Given the description of an element on the screen output the (x, y) to click on. 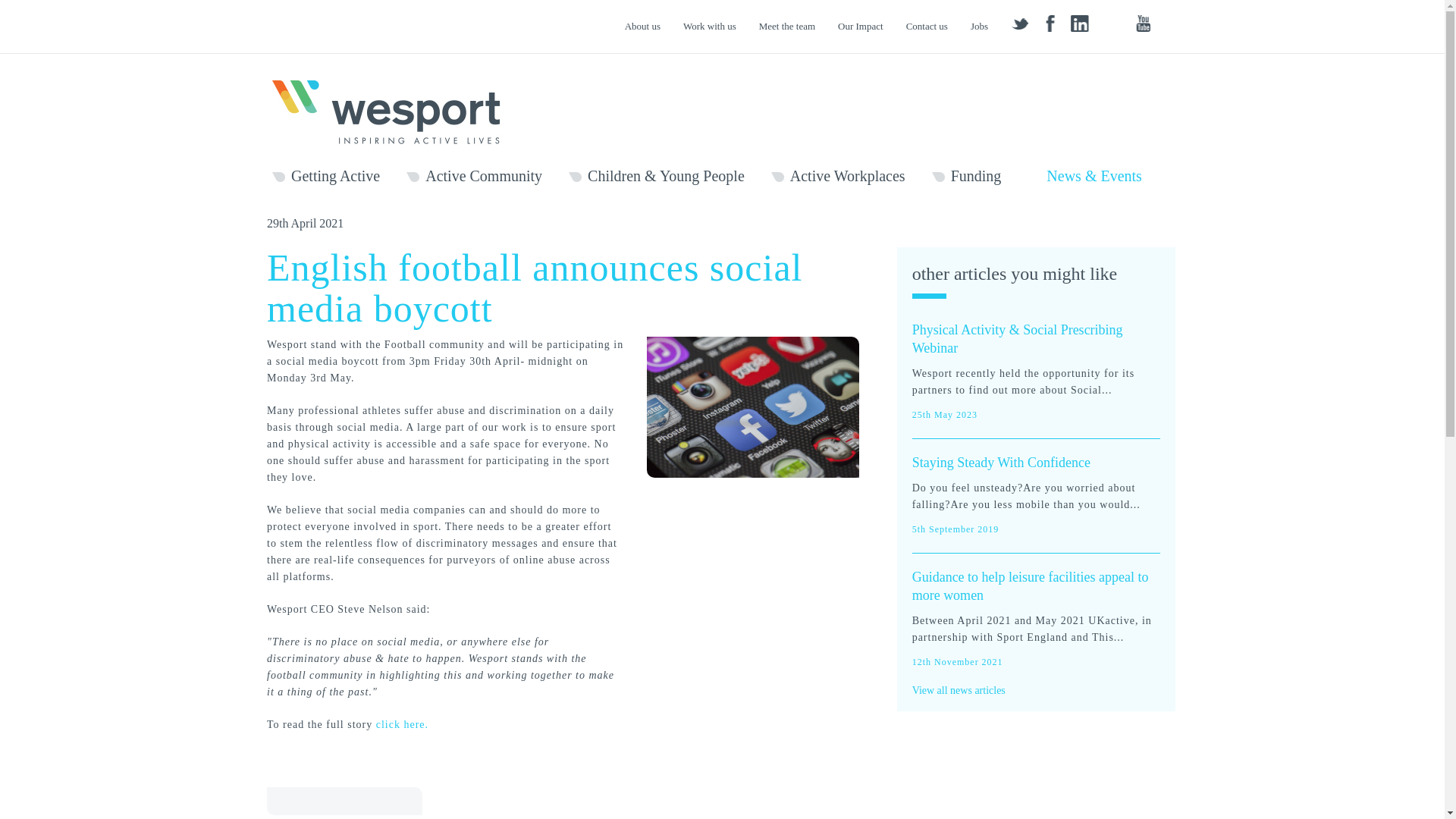
Active Community (473, 177)
Our Impact (860, 25)
Active Workplaces (838, 177)
Work with us (709, 25)
About us (642, 25)
Home (393, 110)
Contact us (926, 25)
Wesport (393, 110)
Jobs (979, 25)
Getting Active (326, 177)
Meet the team (786, 25)
